Given the description of an element on the screen output the (x, y) to click on. 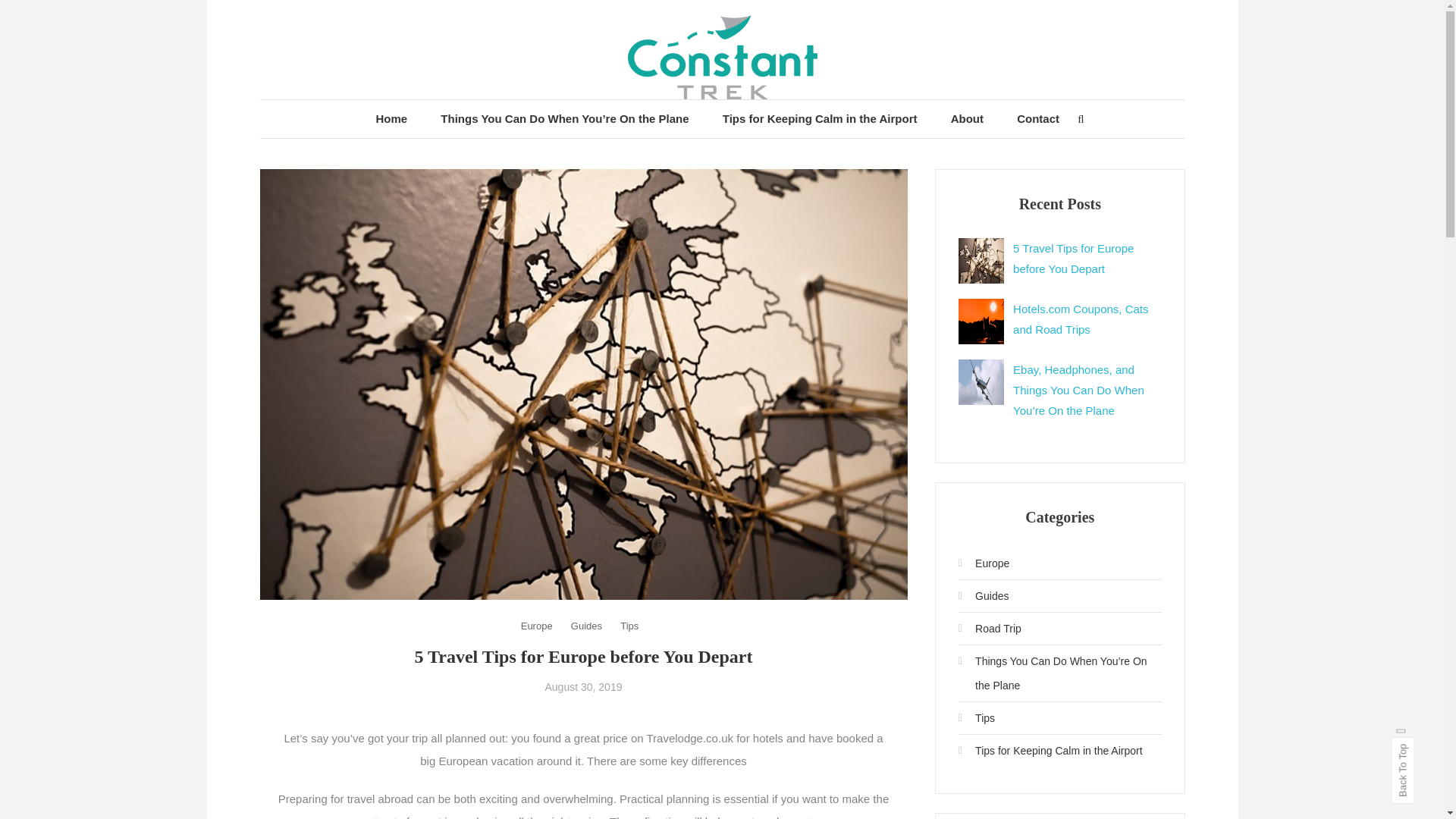
Stationery Heaven (415, 124)
Tips for Keeping Calm in the Airport (820, 118)
Contact (1037, 118)
Search (768, 432)
August 30, 2019 (582, 686)
5 Travel Tips for Europe before You Depart (1073, 258)
Home (392, 118)
About (967, 118)
Guides (586, 625)
Europe (537, 625)
